Given the description of an element on the screen output the (x, y) to click on. 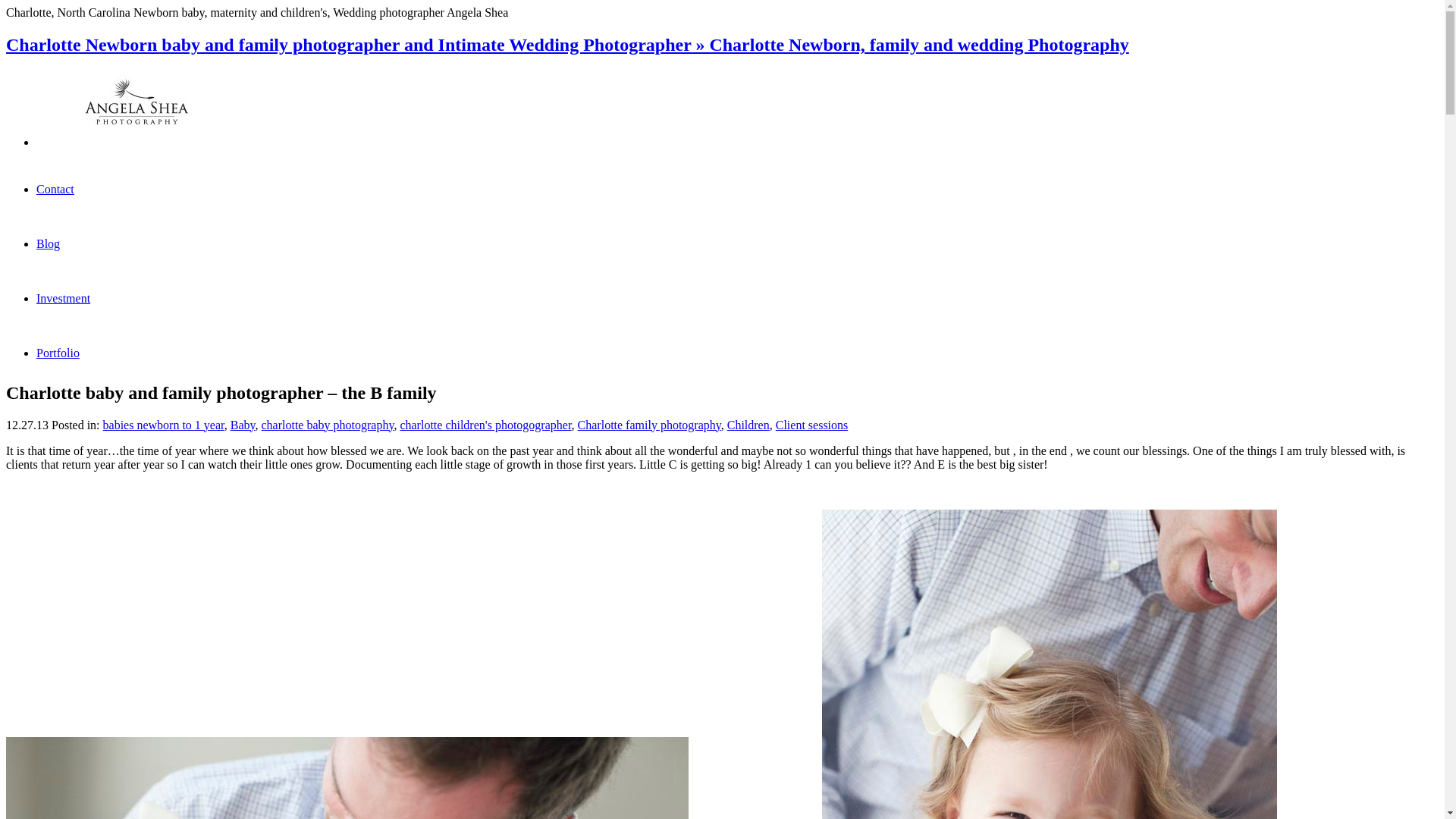
Investment (63, 297)
babies newborn to 1 year (163, 424)
Client sessions (812, 424)
Blog (47, 243)
Charlotte family photography (649, 424)
Contact (55, 188)
Baby (243, 424)
charlotte baby photography (326, 424)
charlotte children's photogographer (484, 424)
